Given the description of an element on the screen output the (x, y) to click on. 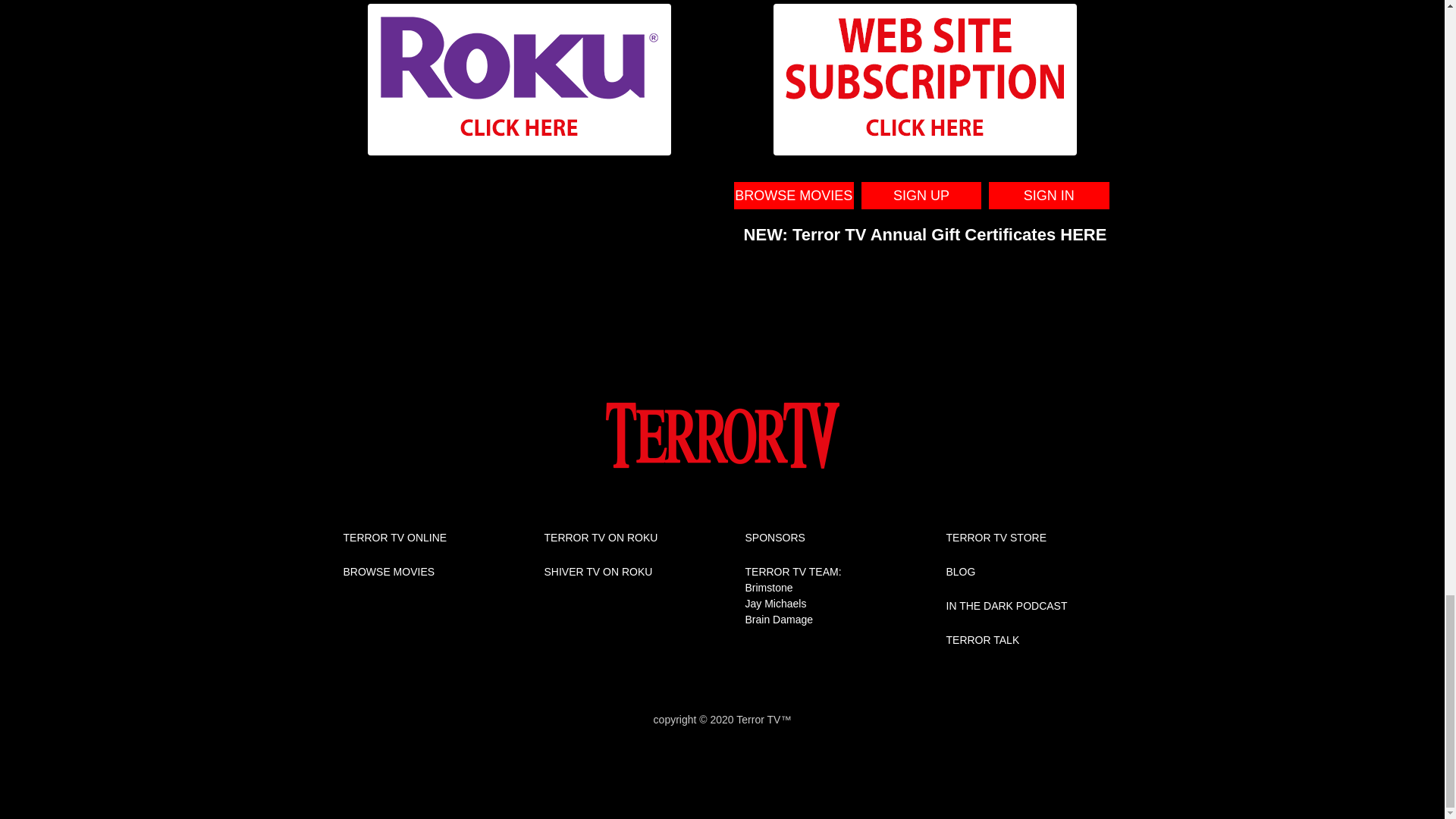
SIGN UP (921, 195)
SPONSORS (774, 537)
BROWSE MOVIES (387, 571)
choose-Roku (519, 79)
BLOG (960, 571)
SIGN IN (1048, 195)
Brimstone (768, 587)
choose-website (925, 79)
Jay Michaels (775, 603)
SHIVER TV ON ROKU (598, 571)
